Given the description of an element on the screen output the (x, y) to click on. 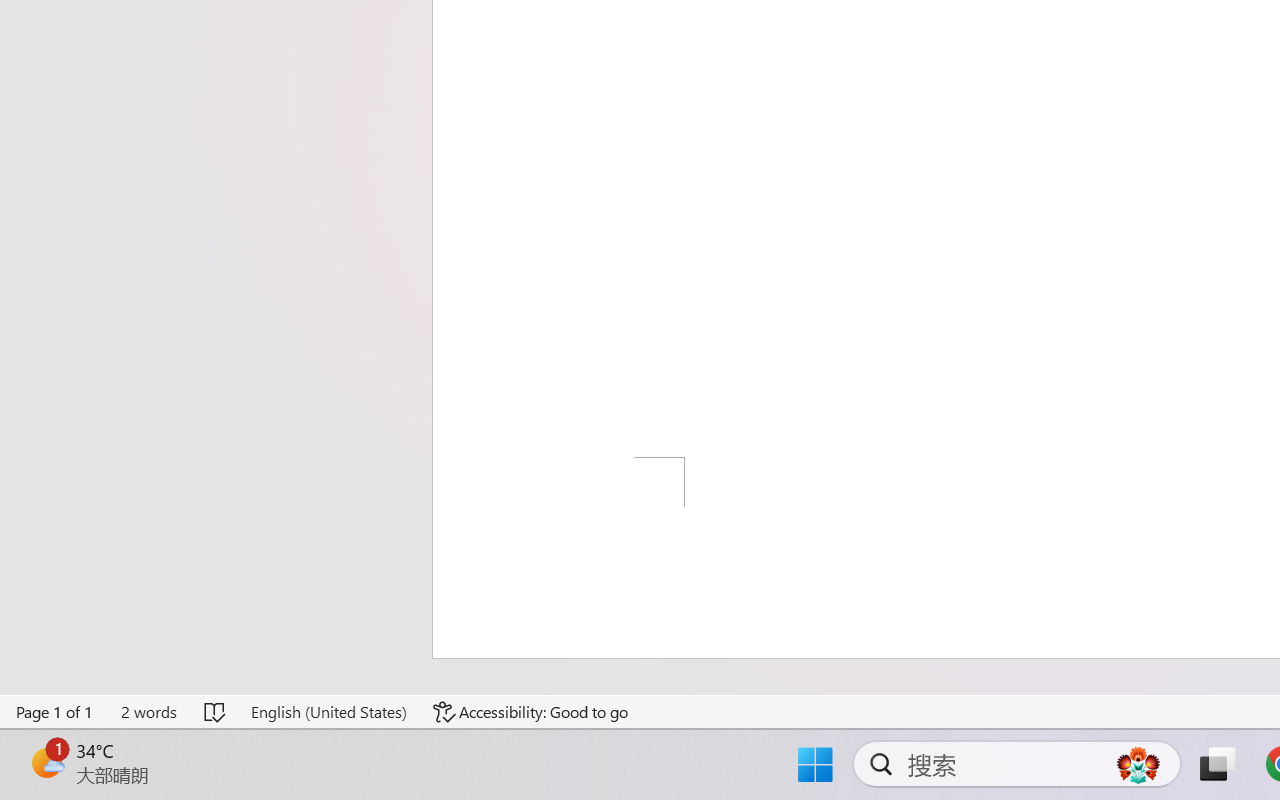
Accessibility Checker Accessibility: Good to go (531, 712)
AutomationID: BadgeAnchorLargeTicker (46, 762)
Language English (United States) (328, 712)
AutomationID: DynamicSearchBoxGleamImage (1138, 764)
Spelling and Grammar Check No Errors (216, 712)
Page Number Page 1 of 1 (55, 712)
